Given the description of an element on the screen output the (x, y) to click on. 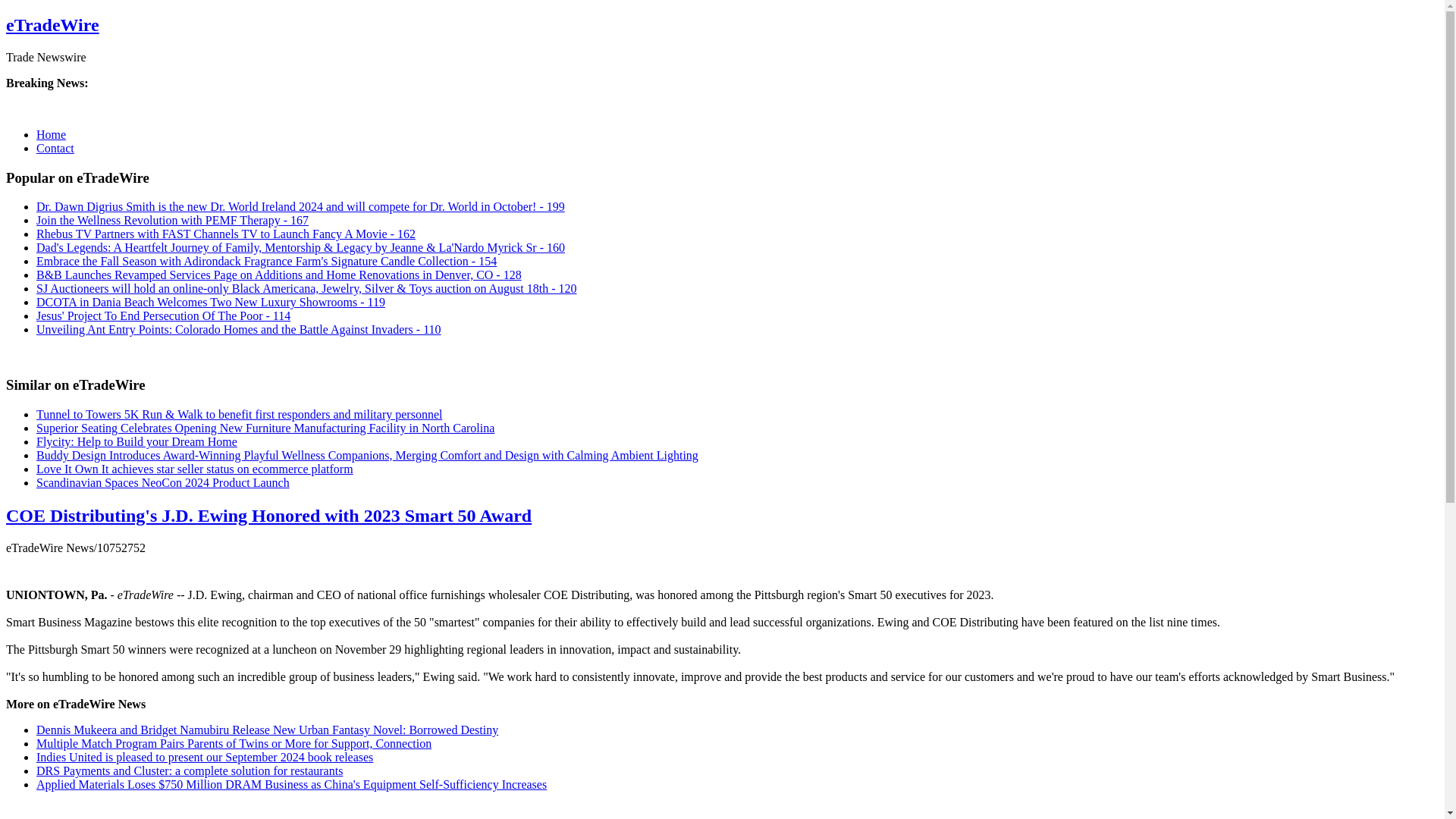
Scandinavian Spaces NeoCon 2024 Product Launch (162, 481)
Flycity: Help to Build your Dream Home (136, 440)
Contact (55, 147)
Jesus' Project To End Persecution Of The Poor - 114 (162, 315)
Home (50, 133)
